Given the description of an element on the screen output the (x, y) to click on. 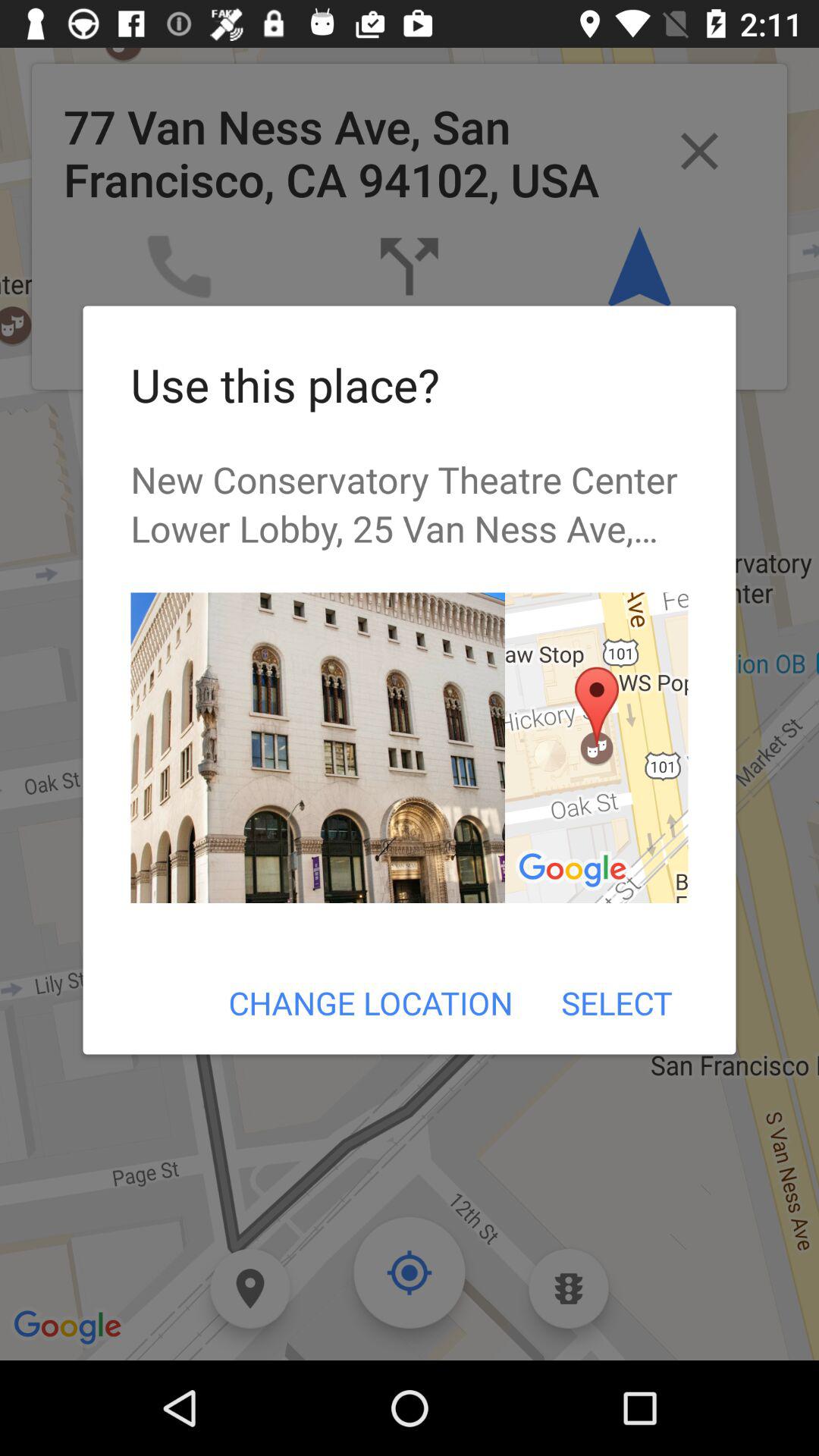
choose the item at the bottom right corner (616, 1002)
